Given the description of an element on the screen output the (x, y) to click on. 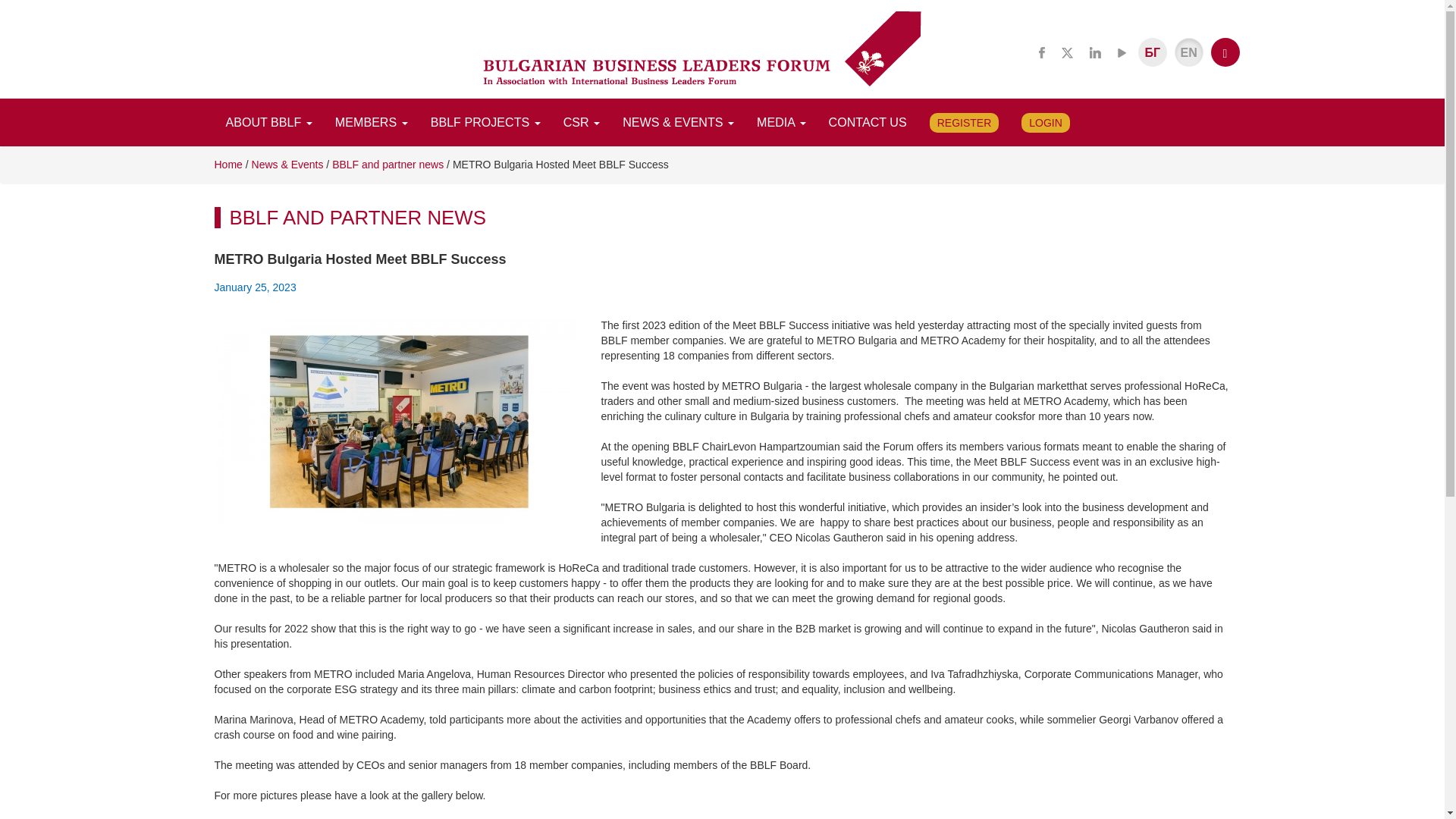
MEMBERS (371, 121)
CSR (581, 121)
Contact us (867, 121)
EN (1189, 51)
Facebook (1041, 51)
Members (371, 121)
Media (780, 121)
BBLF PROJECTS (485, 121)
YouTube (1121, 51)
LinkedIn (1095, 51)
